Given the description of an element on the screen output the (x, y) to click on. 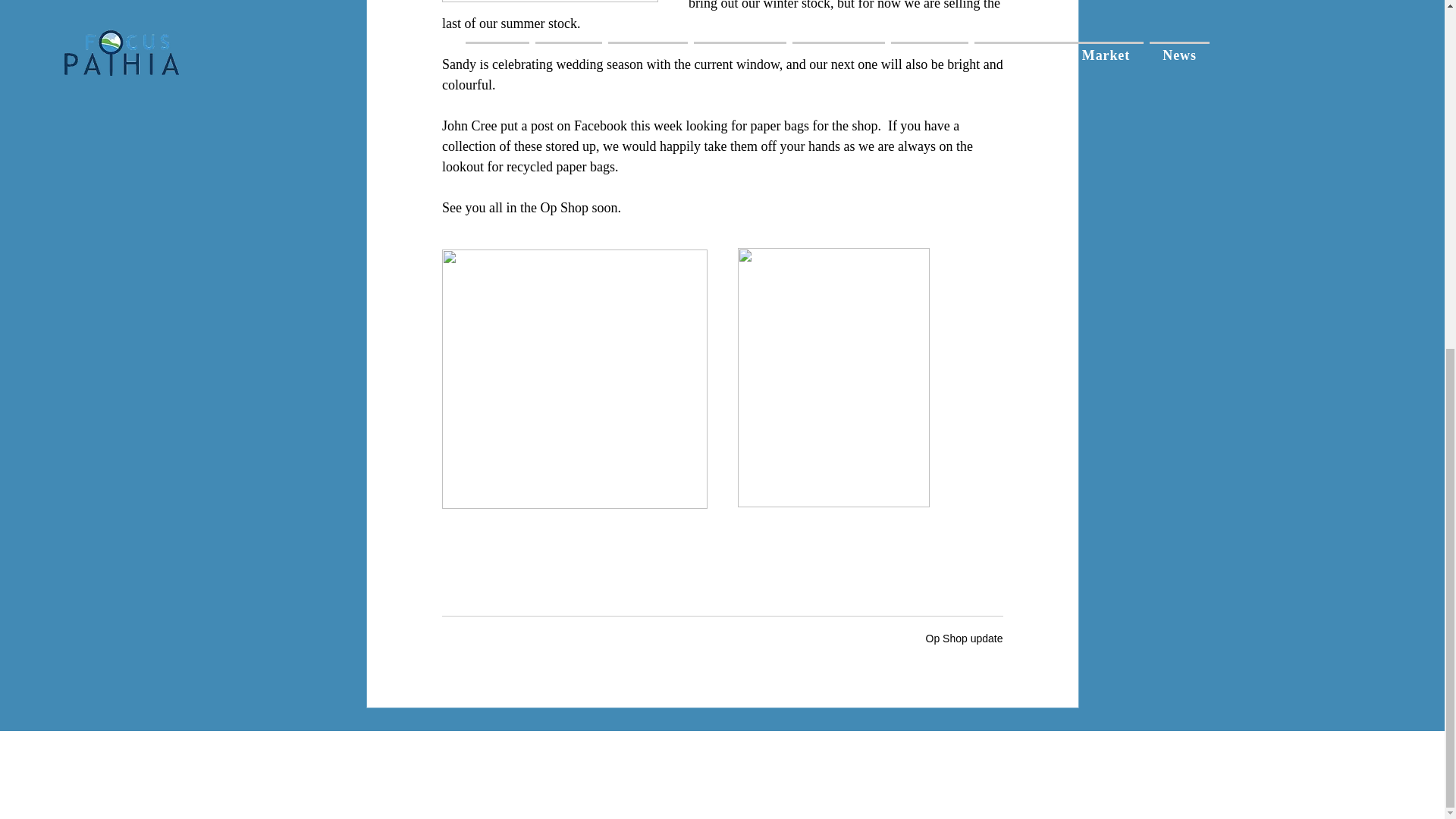
Op Shop update (964, 638)
